Given the description of an element on the screen output the (x, y) to click on. 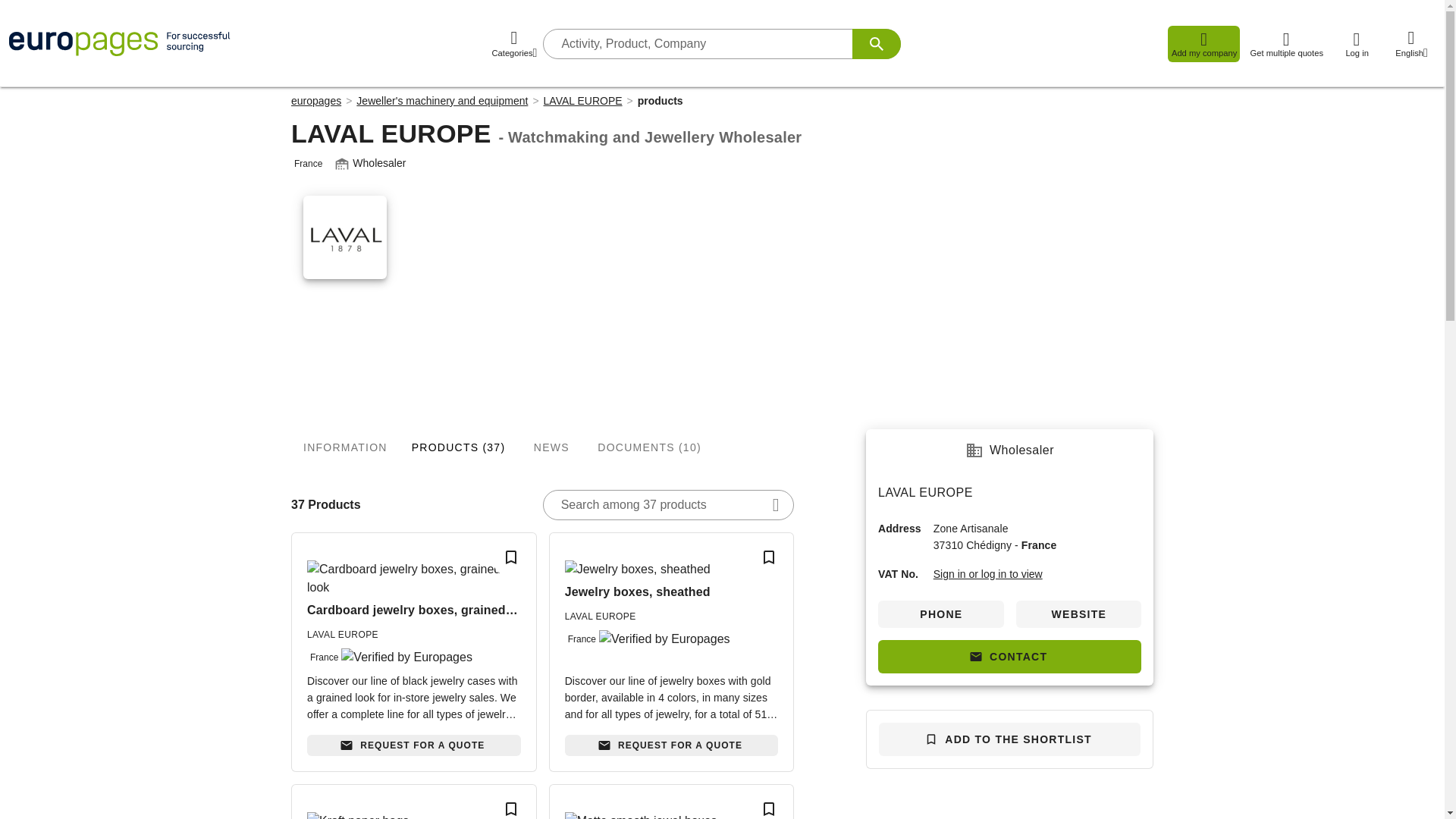
Categories (513, 43)
English (1411, 43)
Log in (1356, 43)
Get multiple quotes (1286, 43)
Add my company (1203, 43)
